Given the description of an element on the screen output the (x, y) to click on. 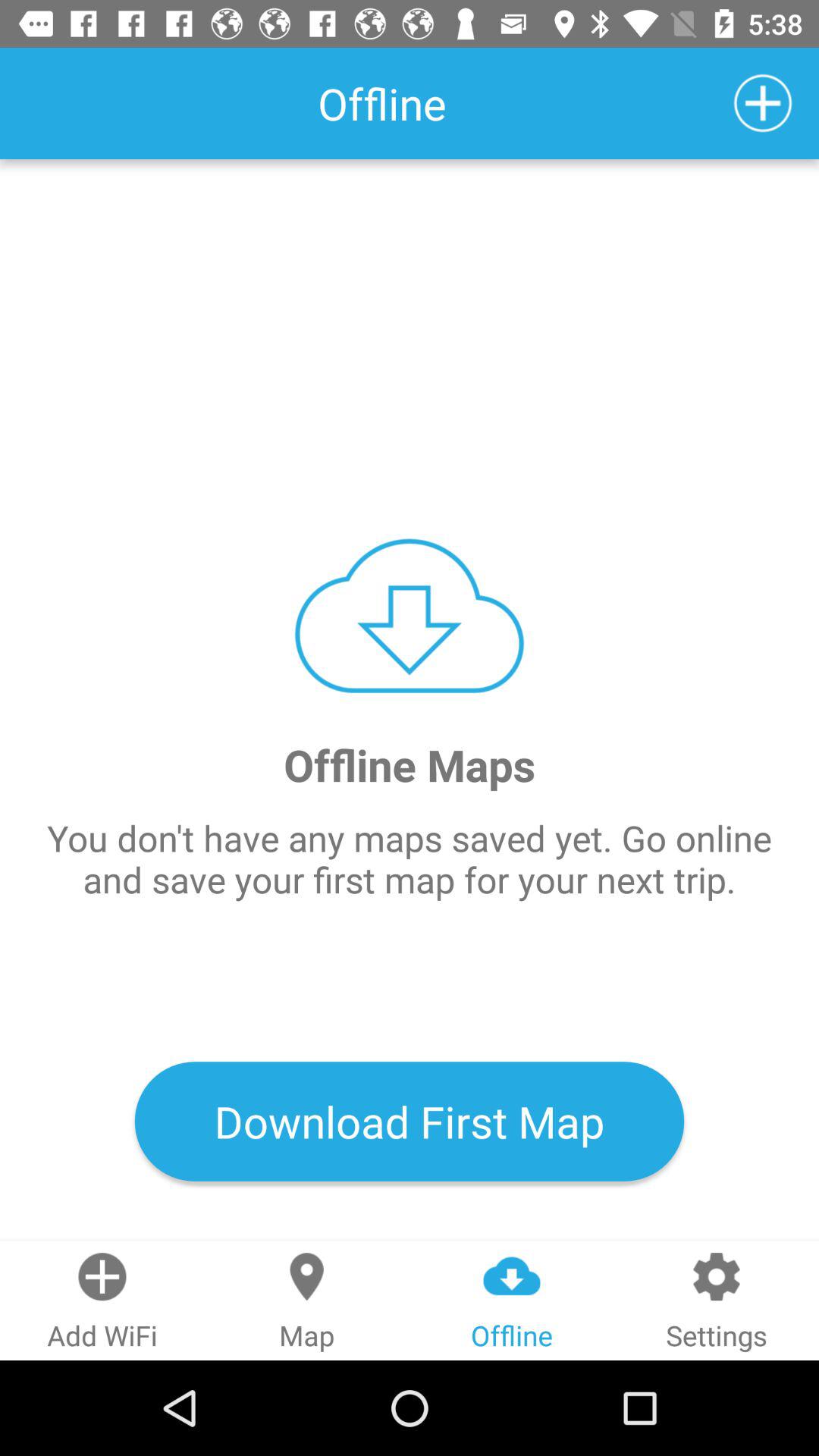
turn on icon above the offline maps item (762, 103)
